Given the description of an element on the screen output the (x, y) to click on. 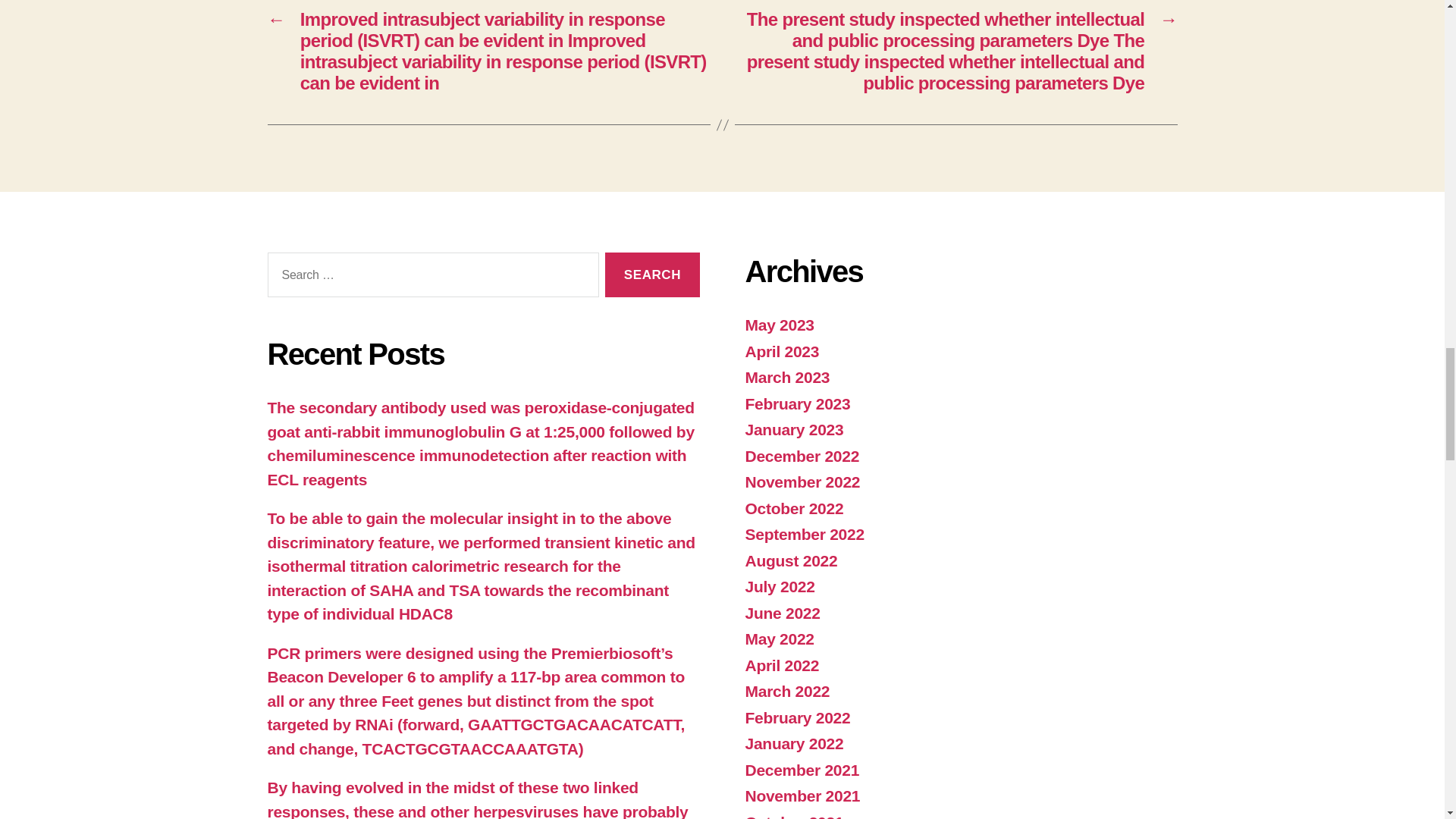
Search (651, 274)
April 2022 (781, 665)
November 2022 (802, 481)
February 2022 (797, 717)
May 2023 (778, 324)
December 2022 (801, 456)
Search (651, 274)
February 2023 (797, 403)
January 2022 (793, 743)
